Given the description of an element on the screen output the (x, y) to click on. 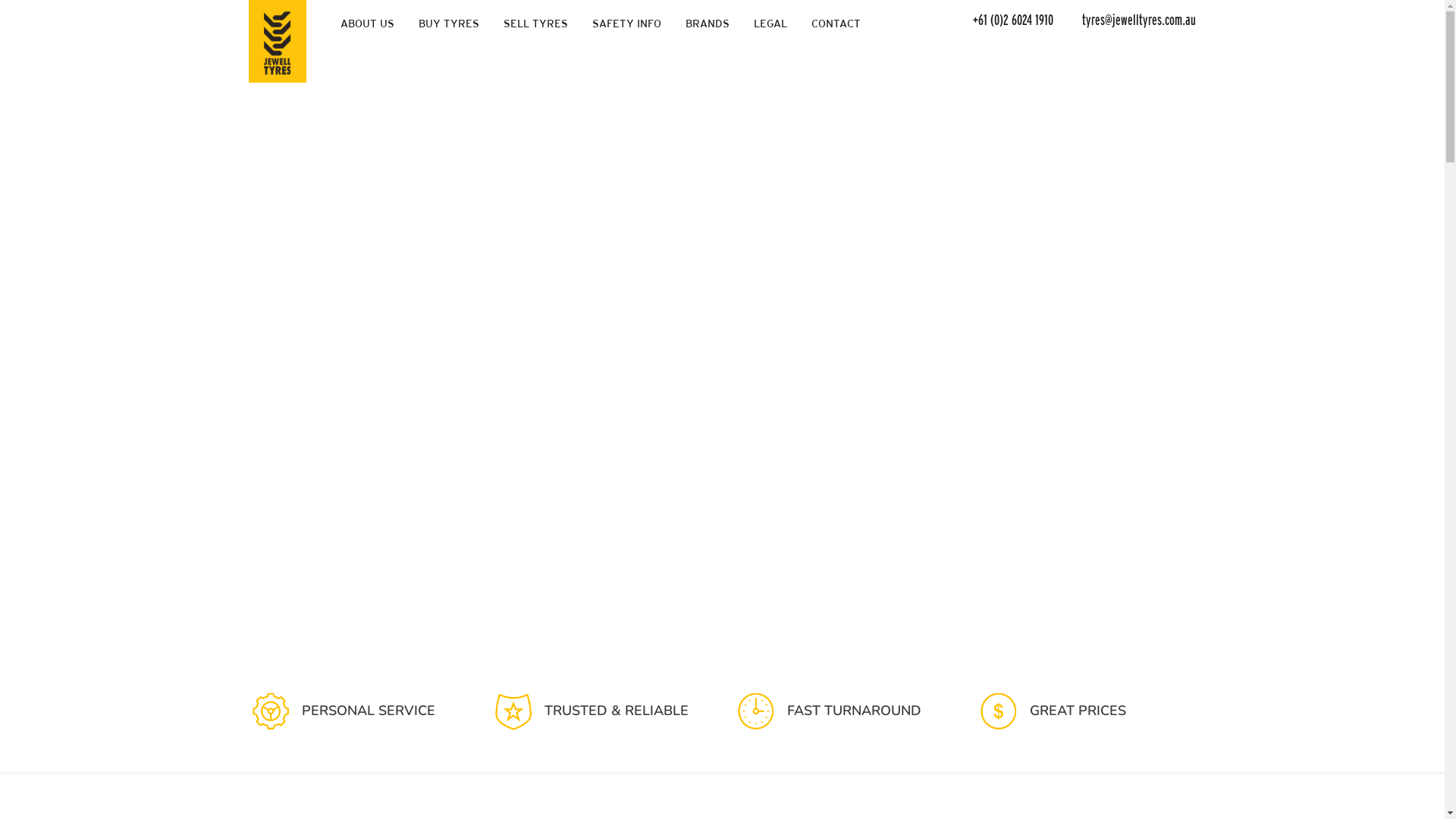
SELL TYRES Element type: text (535, 23)
LEGAL Element type: text (770, 23)
CONTACT Element type: text (835, 23)
+61 (0)2 6024 1910 Element type: text (1007, 19)
BRANDS Element type: text (707, 23)
tyres@jewelltyres.com.au Element type: text (1125, 19)
SAFETY INFO Element type: text (626, 23)
BUY TYRES Element type: text (448, 23)
ABOUT US Element type: text (366, 23)
